Given the description of an element on the screen output the (x, y) to click on. 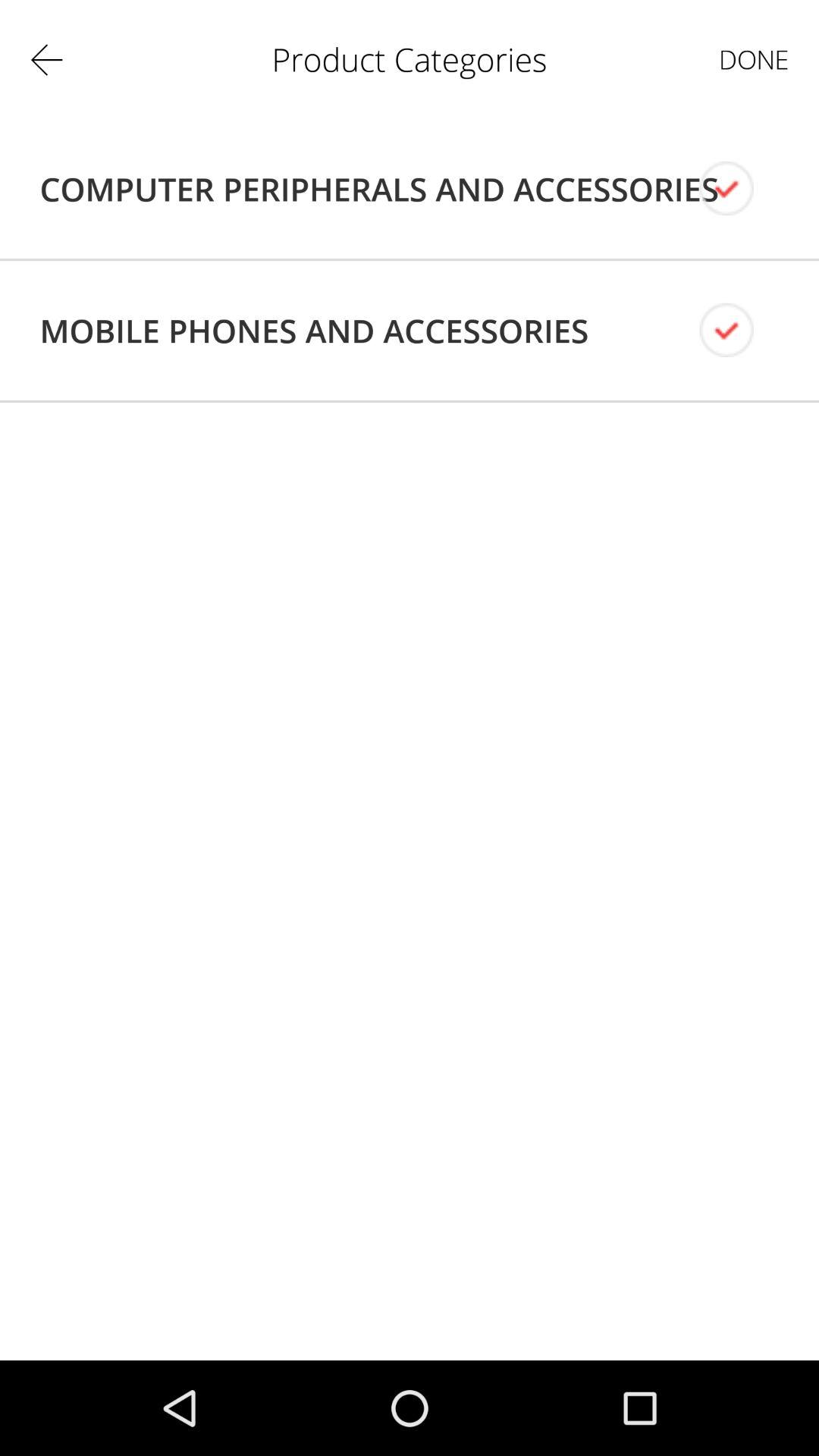
toggle inclusion of computer peripherals (739, 188)
